Given the description of an element on the screen output the (x, y) to click on. 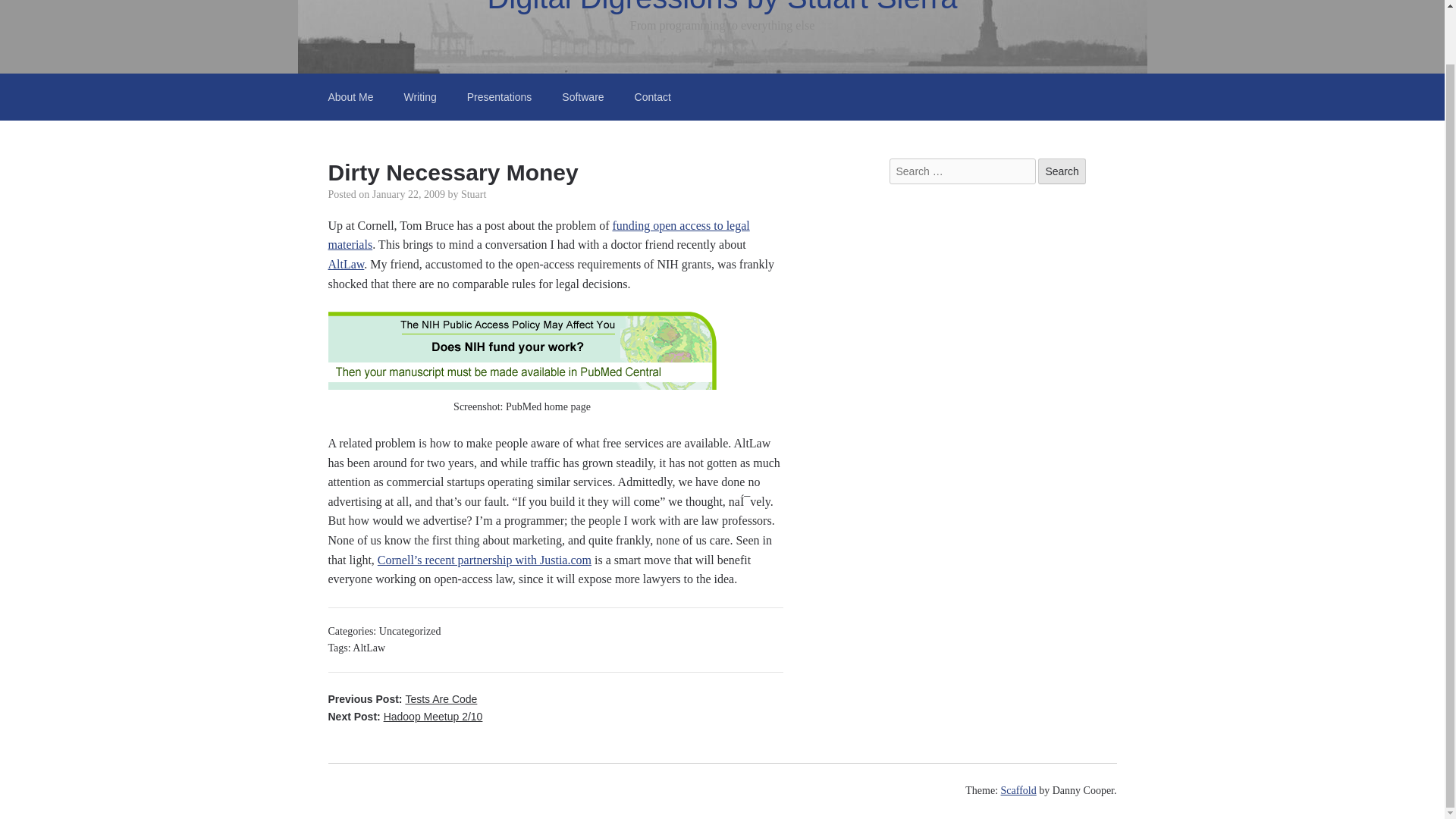
January 22, 2009 (408, 194)
AltLaw (345, 264)
funding open access to legal materials (538, 235)
Digital Digressions by Stuart Sierra (721, 7)
Search (1061, 171)
Writing (419, 96)
Previous Post: Tests Are Code (402, 698)
About Me (350, 96)
Uncategorized (409, 631)
Stuart (473, 194)
